Given the description of an element on the screen output the (x, y) to click on. 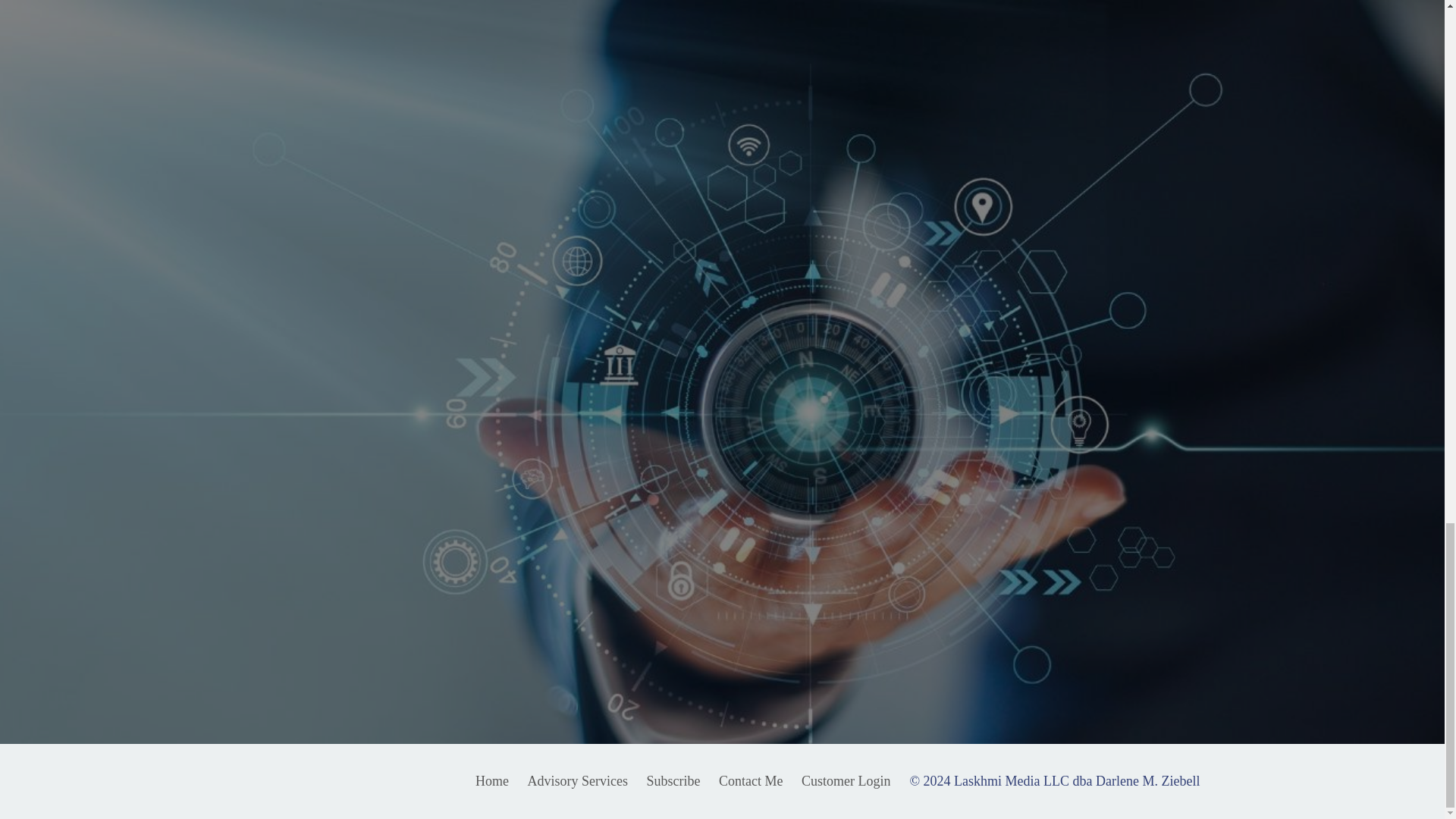
Advisory Services (577, 780)
Home (492, 780)
Subscribe (674, 780)
Customer Login (846, 780)
Contact Me (751, 780)
